Given the description of an element on the screen output the (x, y) to click on. 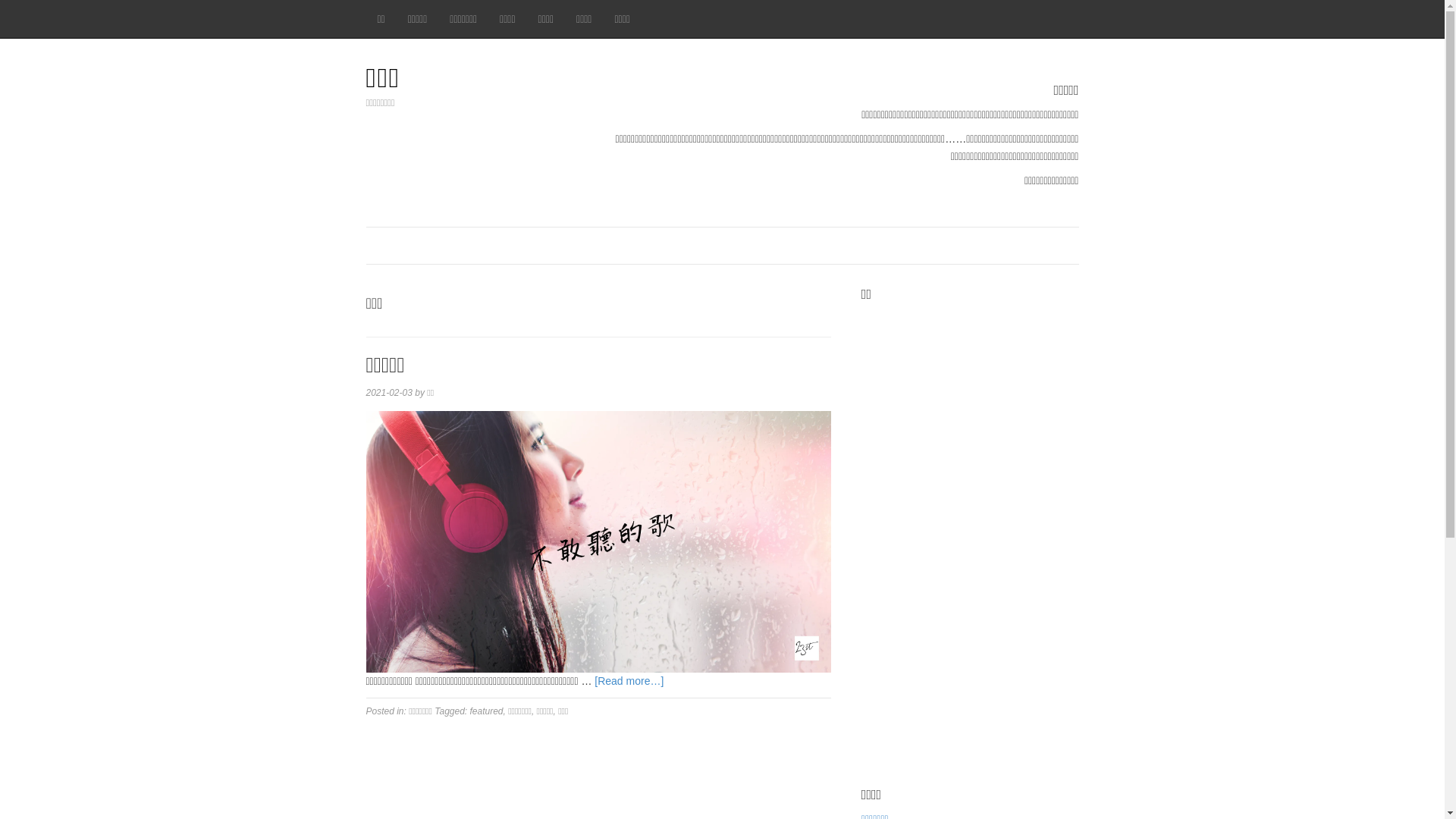
Advertisement Element type: hover (970, 537)
featured Element type: text (486, 711)
